Given the description of an element on the screen output the (x, y) to click on. 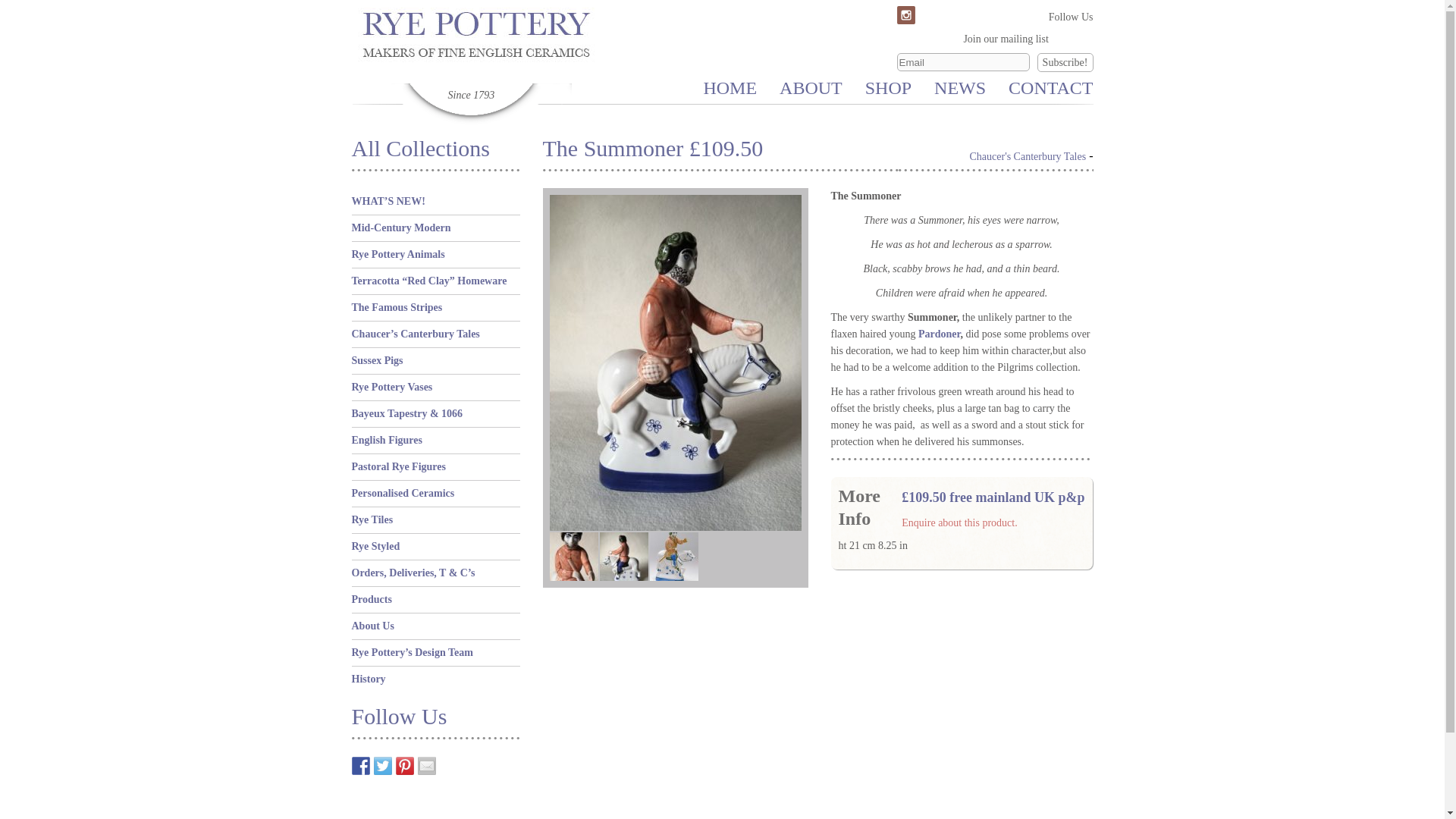
CONTACT (1051, 87)
Sussex Pigs (377, 360)
Chaucer's Canterbury Tales (1027, 156)
ABOUT (810, 87)
Pastoral Rye Figures (398, 466)
HOME (730, 87)
Rye Pottery Animals (398, 254)
SHOP (887, 87)
Personalised Ceramics (403, 492)
English Figures (387, 439)
Rye Styled (376, 546)
Subscribe! (1064, 62)
Share on Twitter (381, 765)
About Us (373, 625)
Rye Tiles (372, 519)
